Given the description of an element on the screen output the (x, y) to click on. 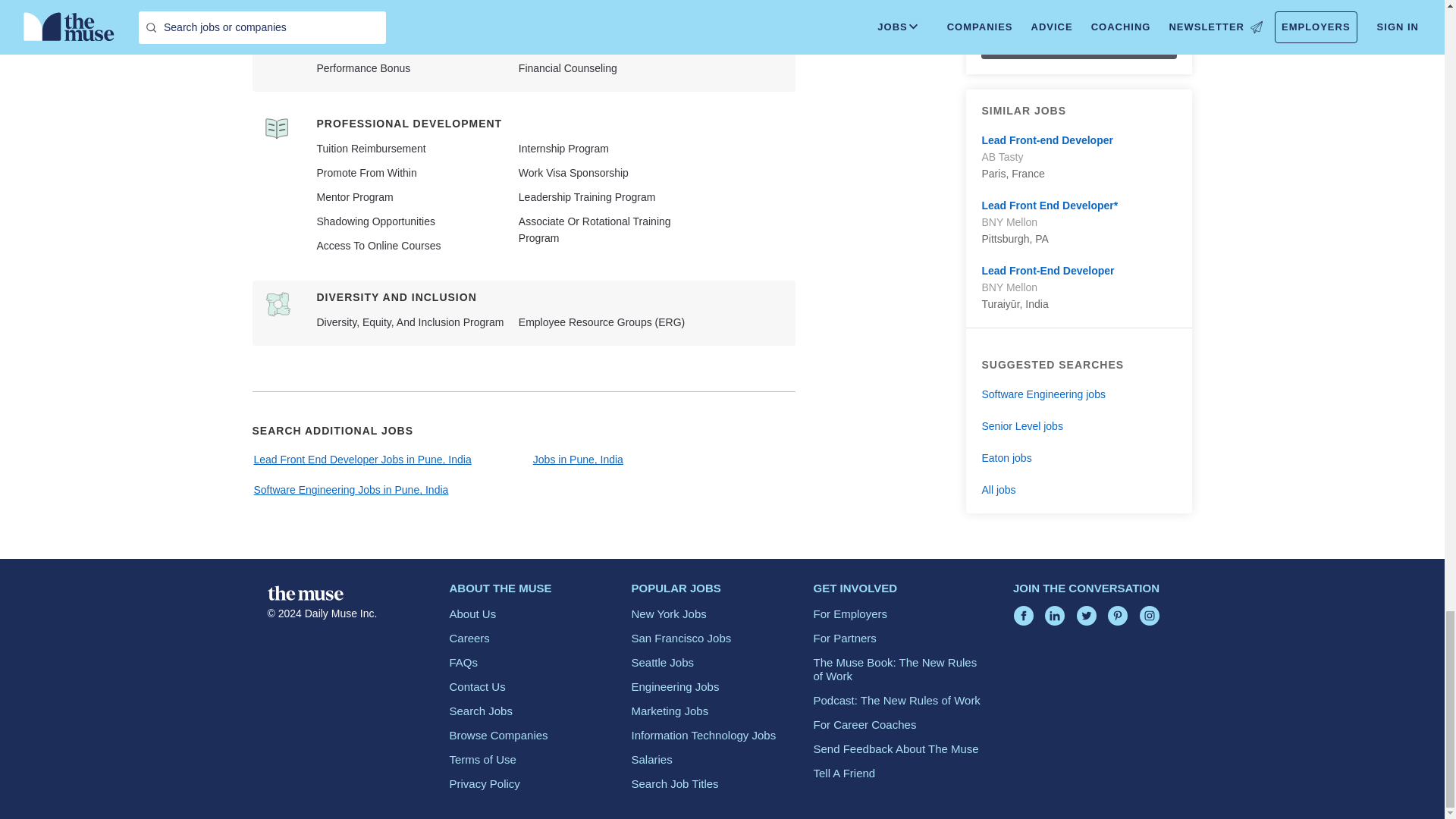
The Muse LogoA logo with "the muse" in white text. (304, 592)
